Given the description of an element on the screen output the (x, y) to click on. 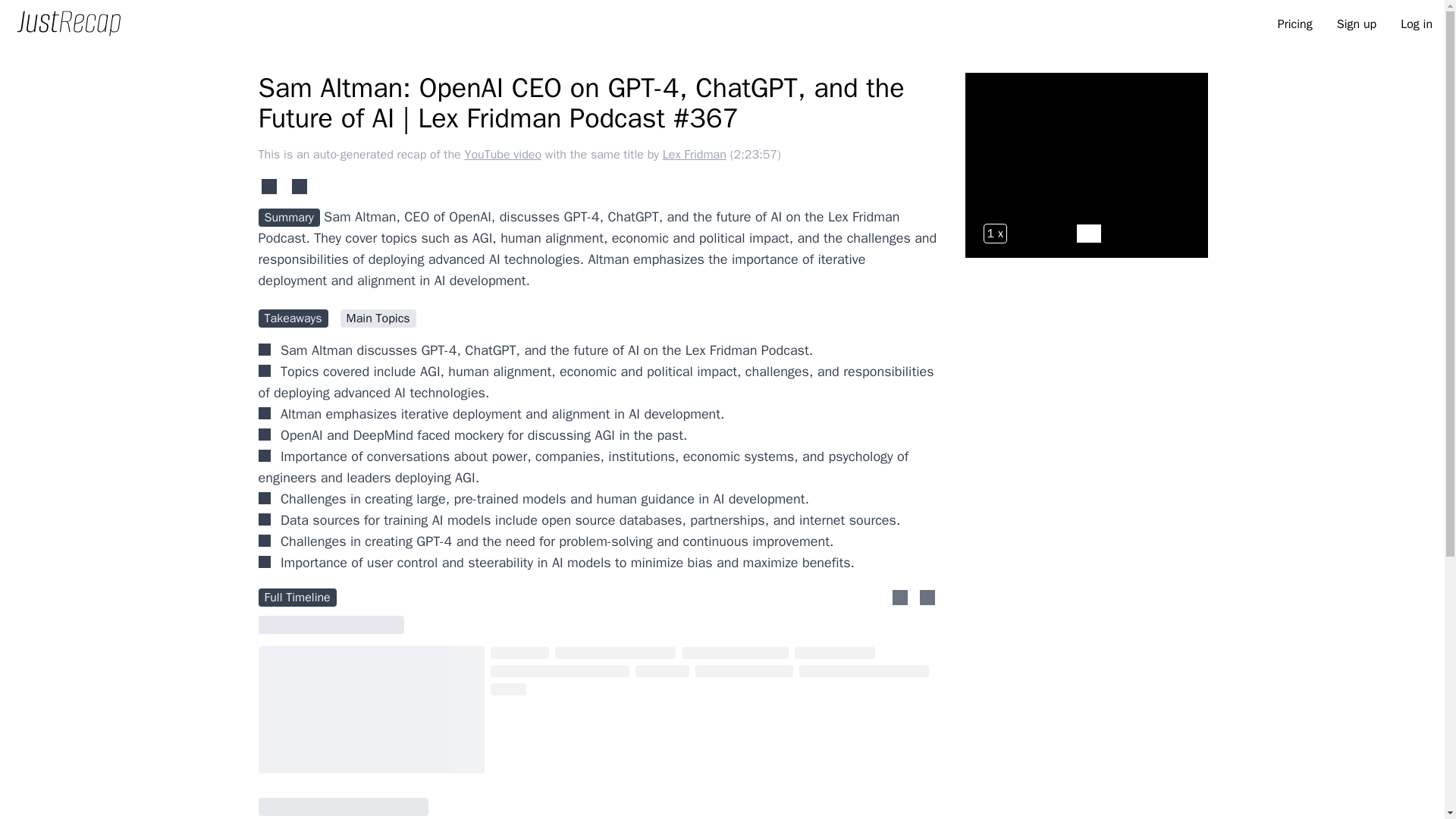
Lex Fridman (696, 154)
Pricing (1295, 24)
More actions (926, 597)
Log in (1416, 24)
Sign up (1355, 24)
YouTube video (504, 154)
